Given the description of an element on the screen output the (x, y) to click on. 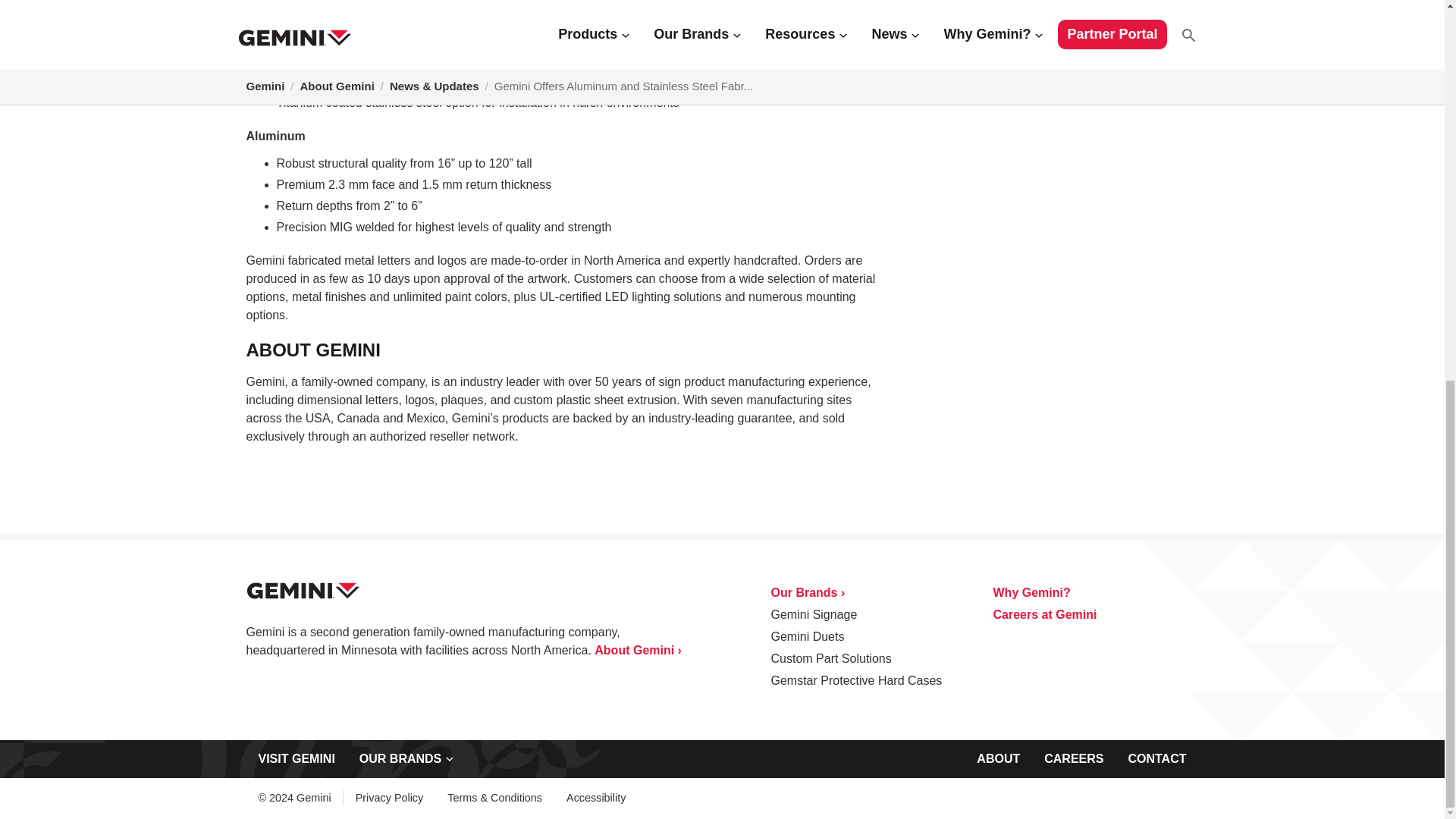
Privacy Policy (389, 798)
Accessibility (595, 798)
